Given the description of an element on the screen output the (x, y) to click on. 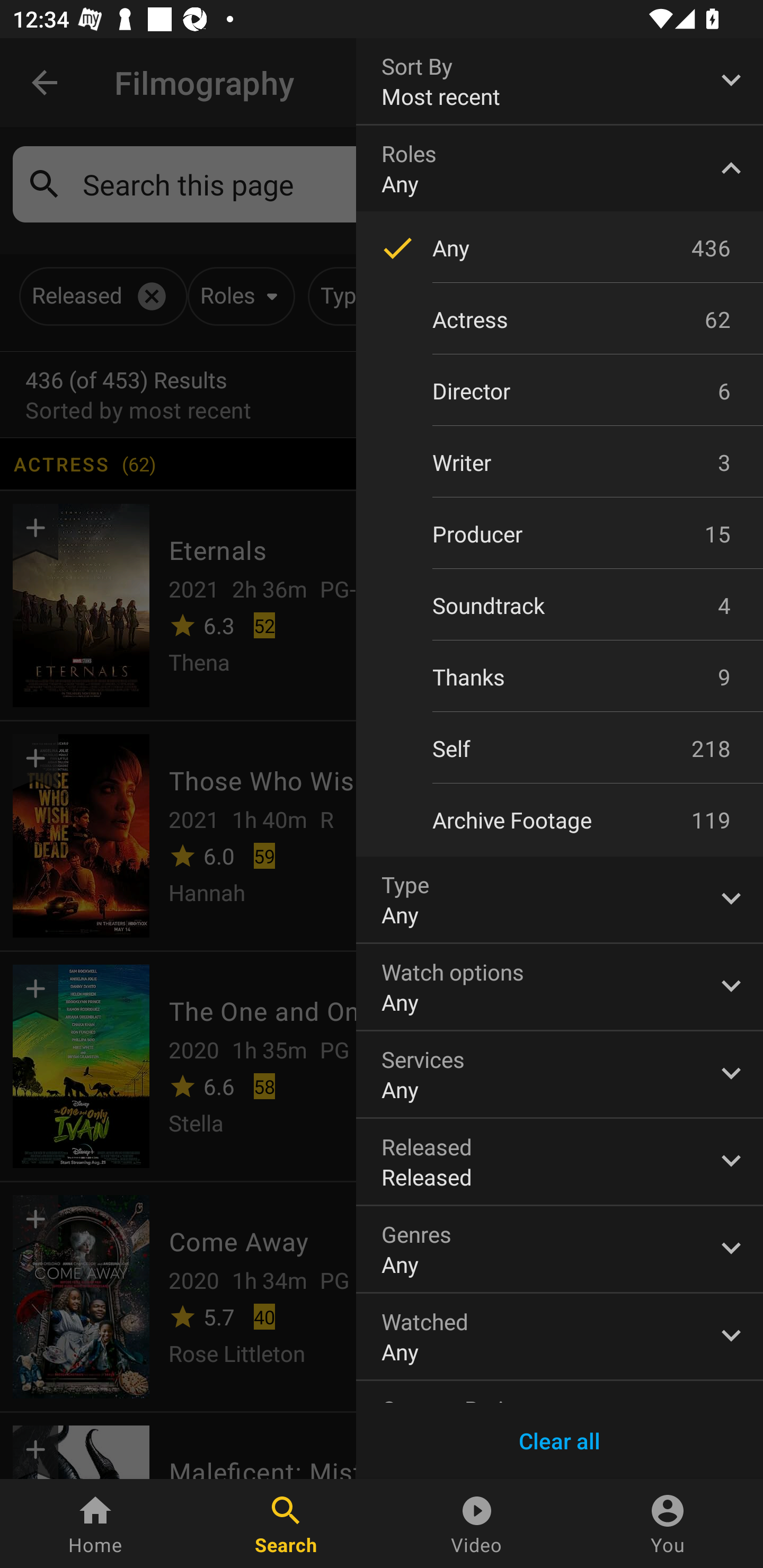
Sort By Most recent (559, 80)
Roles Any (559, 168)
Any 436 (559, 247)
Actress 62 (559, 318)
Director 6 (559, 390)
Writer 3 (559, 462)
Producer 15 (559, 533)
Soundtrack 4 (559, 604)
Thanks 9 (559, 676)
Self 218 (559, 748)
Archive Footage 119 (559, 819)
Type Any (559, 899)
Watch options Any (559, 986)
Services Any (559, 1073)
Released (559, 1161)
Genres Any (559, 1248)
Watched Any (559, 1336)
Clear all (559, 1440)
Home (95, 1523)
Video (476, 1523)
You (667, 1523)
